Given the description of an element on the screen output the (x, y) to click on. 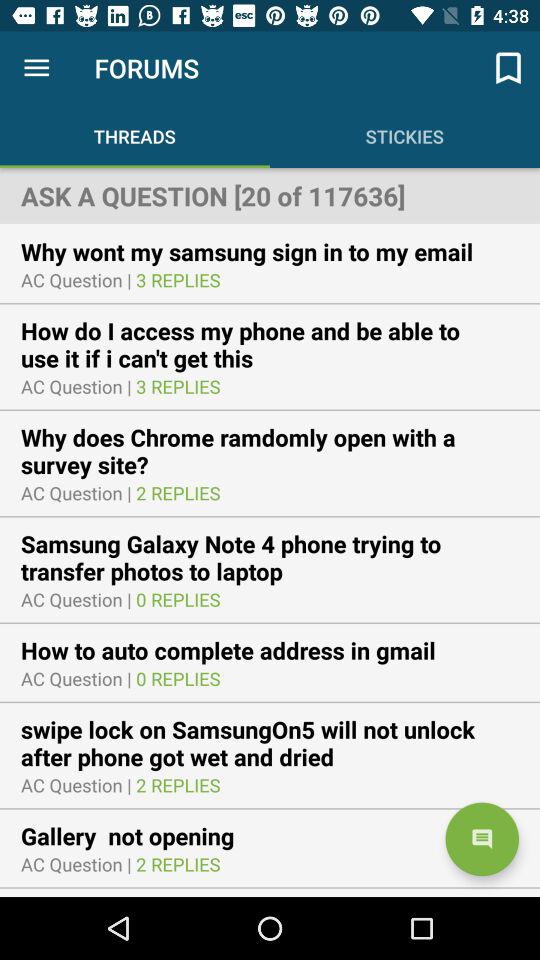
press icon above ac question |  item (140, 835)
